Given the description of an element on the screen output the (x, y) to click on. 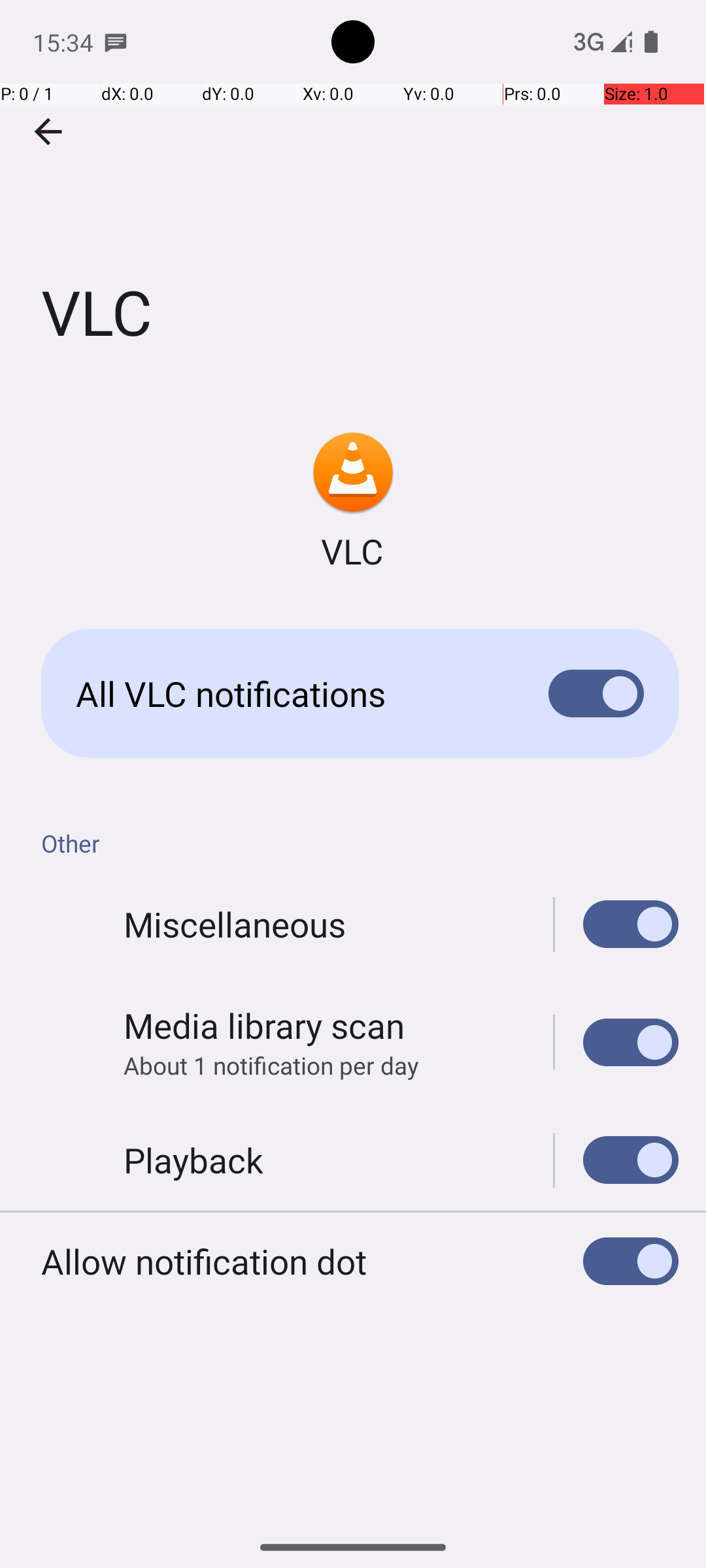
All VLC notifications Element type: android.widget.TextView (291, 693)
Media library scan Element type: android.widget.TextView (264, 1025)
About 1 notification per day Element type: android.widget.TextView (271, 1064)
Playback Element type: android.widget.TextView (193, 1159)
